Given the description of an element on the screen output the (x, y) to click on. 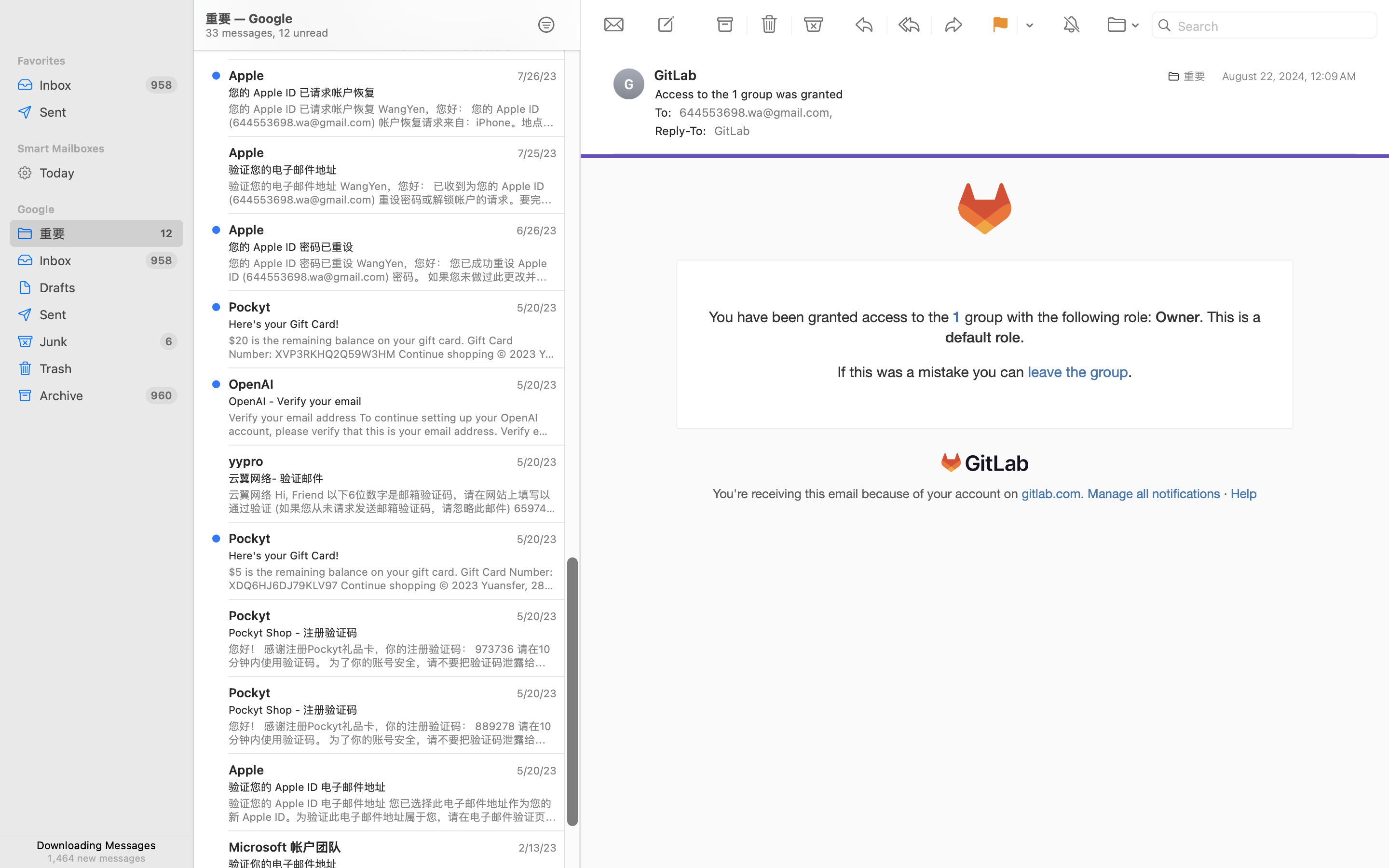
您的 Apple ID 密码已重设 WangYen，您好： 您已成功重设 Apple ID (644553698.wa@gmail.com) 密码。 如果您未做过此更改并认为有人未经授权访问了您的帐户，您应立即前往 iforgot.apple.com 重设您的密码。然后登录 Apple ID 帐户页面 https://appleid.apple.com，查看并更新您的安全设置。 如需更多帮助，请联系 Apple 支持。 此致 Apple 支持 Apple ID | 支持 | 隐私政策 Copyright © 2023 One Apple Park Way, Cupertino, CA 95014, United States‎ 保留所有权利。 Element type: AXStaticText (392, 269)
验证您的 Apple ID 电子邮件地址 您已选择此电子邮件地址作为您的新 Apple ID。为验证此电子邮件地址属于您，请在电子邮件验证页面输入下方验证码： 945193 验证码会在此电子邮件发送后三小时失效。 您收到此电子邮件的原因： Apple 会在您选择电子邮件地址为 Apple ID 时对其进行验证。验证电子邮件地址后，您才能使用 Apple ID。 如果您未提出此请求，您可以忽略这封电子邮件。Apple ID 只有在验证后才能创建。 Apple ID | 支持 | 隐私政策 Copyright © 2023 One Apple Park Way, Cupertino, CA 95014, United States‎ 保留所有权利。 Element type: AXStaticText (392, 809)
Drafts Element type: AXStaticText (107, 287)
$5 is the remaining balance on your gift card. Gift Card Number: XDQ6HJ6DJ79KLV97 Continue shopping © 2023 Yuansfer, 28 Liberty St 6th Floor, New York, NY United States 10005 Element type: AXStaticText (392, 578)
Pockyt Shop - 注册验证码 Element type: AXStaticText (388, 709)
